Given the description of an element on the screen output the (x, y) to click on. 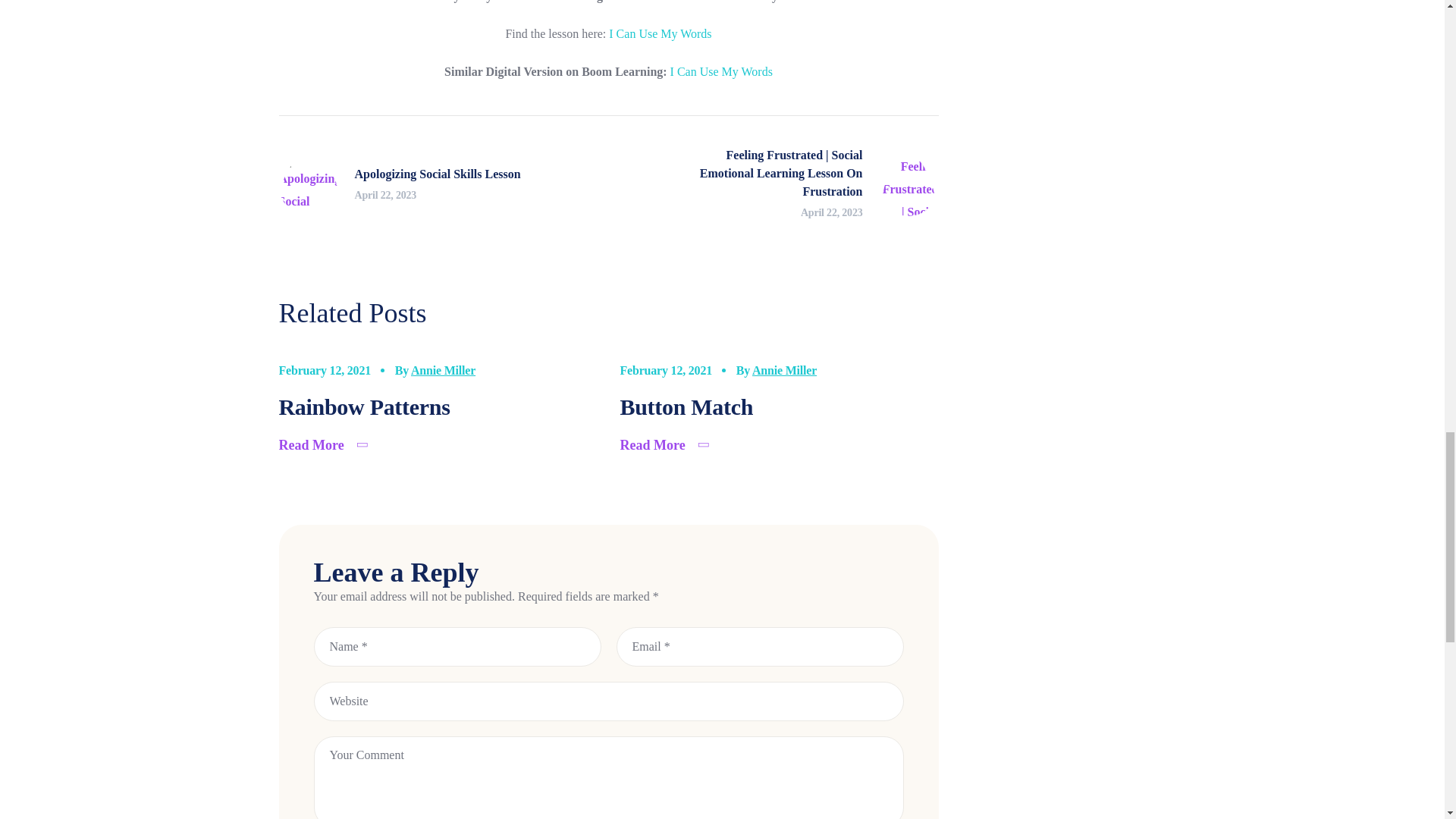
Website (609, 701)
Apologizing Social Skills Lesson (400, 185)
